Given the description of an element on the screen output the (x, y) to click on. 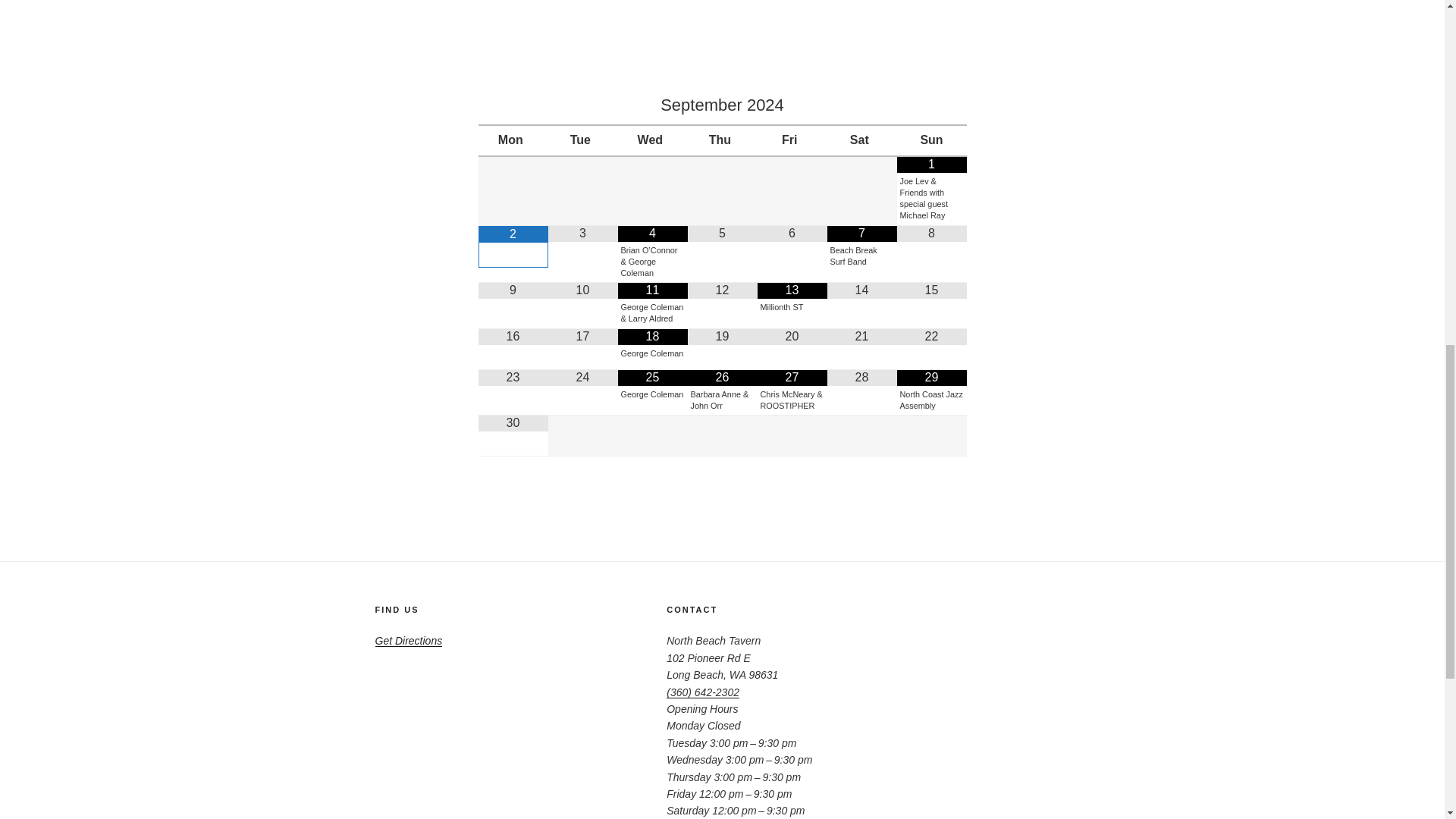
Previous Month (512, 105)
Get Directions (408, 640)
Next Month (931, 105)
